Given the description of an element on the screen output the (x, y) to click on. 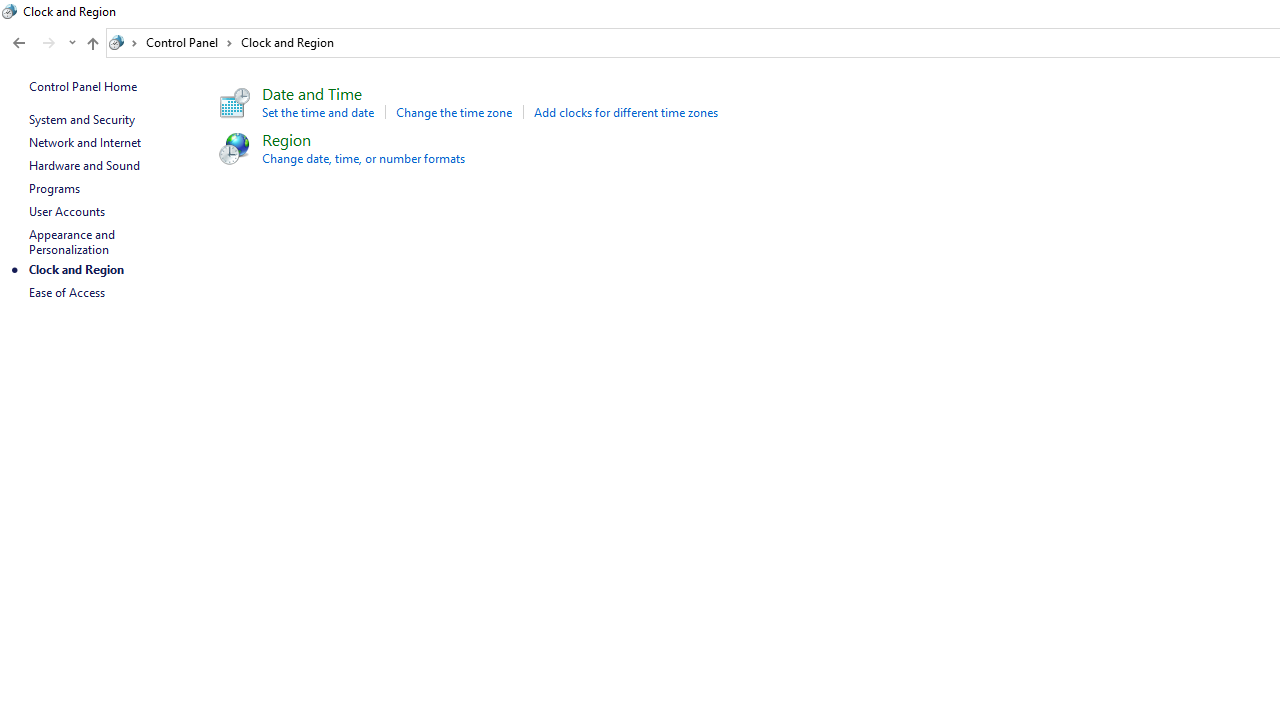
Region (286, 138)
Network and Internet (84, 142)
Icon (232, 147)
Up band toolbar (92, 46)
Set the time and date (317, 112)
Up to "Control Panel" (Alt + Up Arrow) (92, 43)
Add clocks for different time zones (625, 112)
Appearance and Personalization (73, 241)
System and Security (81, 119)
System (10, 11)
Programs (53, 187)
Control Panel Home (82, 86)
Recent locations (71, 43)
Ease of Access (66, 292)
Forward (Alt + Right Arrow) (49, 43)
